Given the description of an element on the screen output the (x, y) to click on. 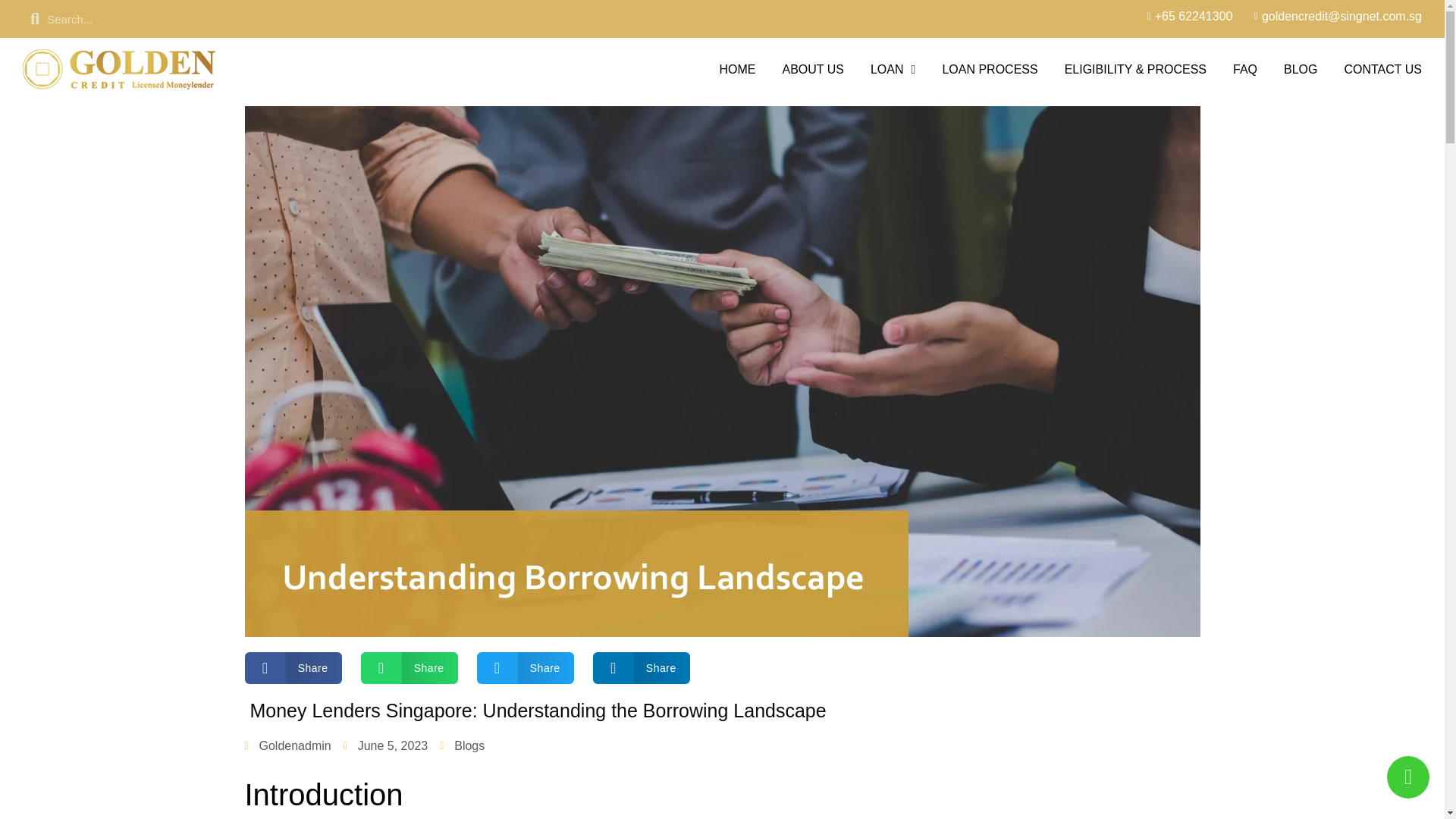
ABOUT US (812, 68)
BLOG (1300, 68)
CONTACT US (1382, 68)
LOAN PROCESS (989, 68)
HOME (737, 68)
LOAN (892, 68)
FAQ (1245, 68)
